Given the description of an element on the screen output the (x, y) to click on. 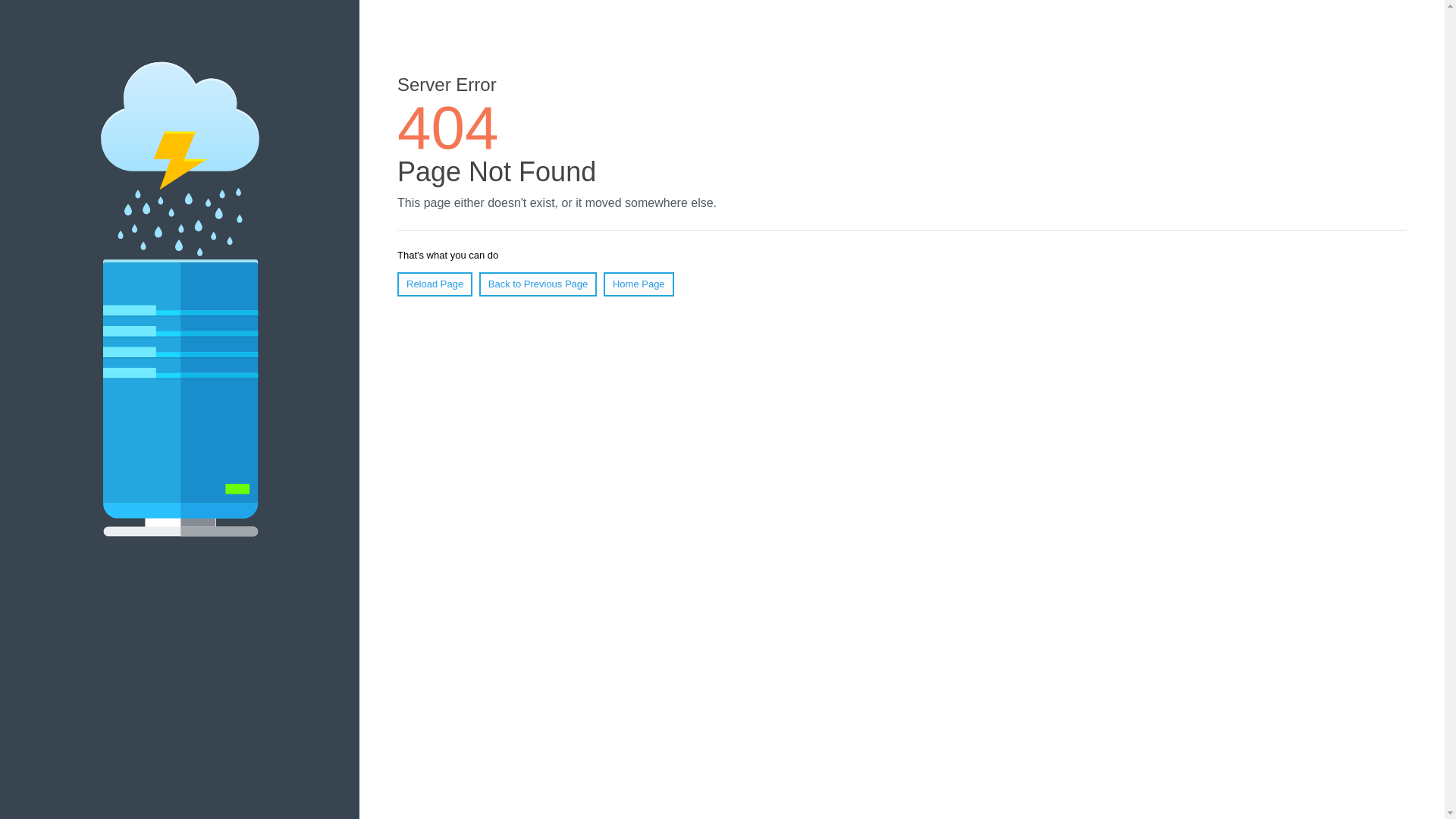
Back to Previous Page Element type: text (538, 284)
Reload Page Element type: text (434, 284)
Home Page Element type: text (638, 284)
